Given the description of an element on the screen output the (x, y) to click on. 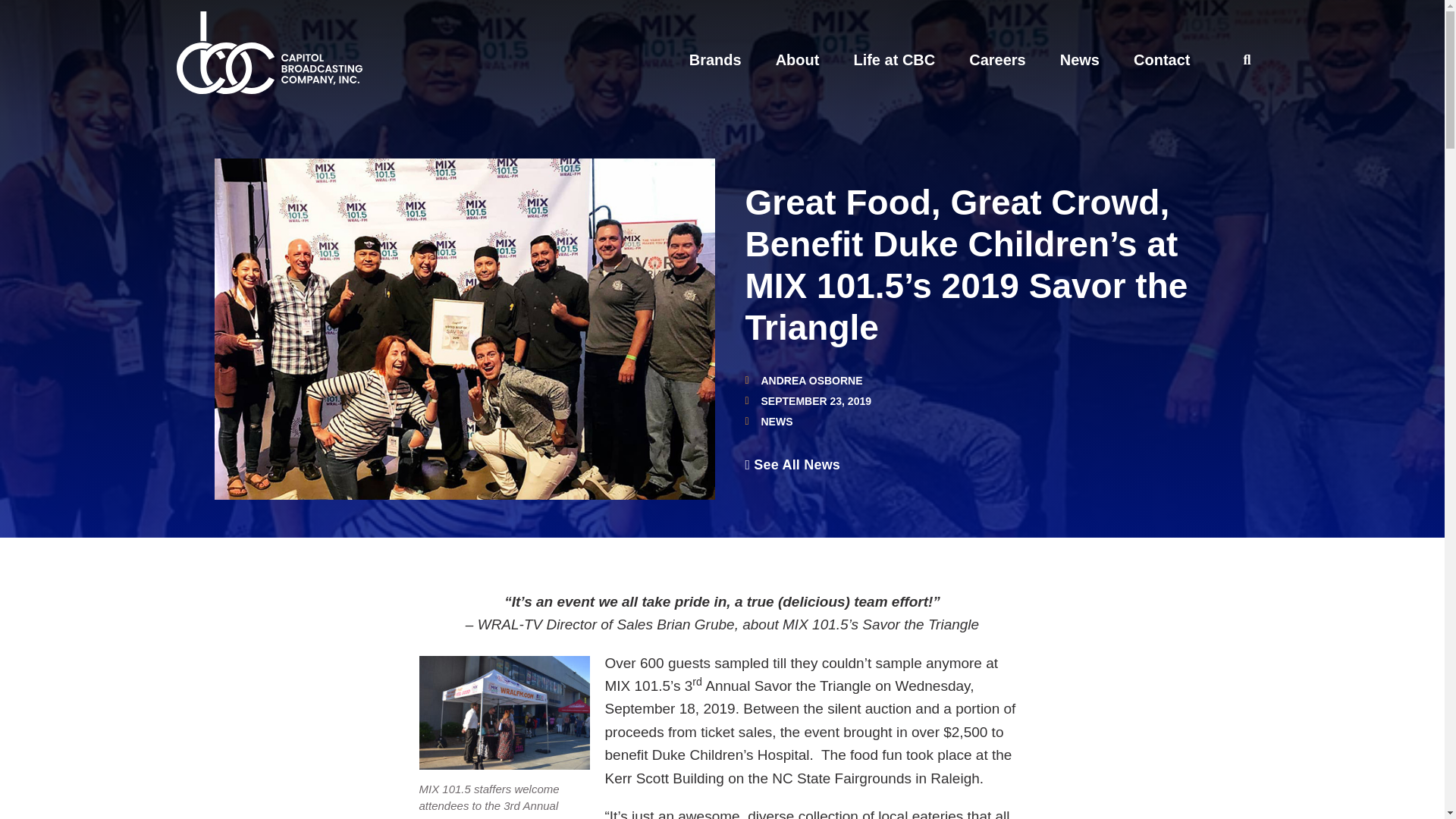
About (797, 59)
News (1079, 59)
Life at CBC (893, 59)
Careers (997, 59)
SEPTEMBER 23, 2019 (807, 400)
Contact (1161, 59)
Brands (714, 59)
NEWS (777, 421)
See All News (792, 464)
ANDREA OSBORNE (802, 380)
